Given the description of an element on the screen output the (x, y) to click on. 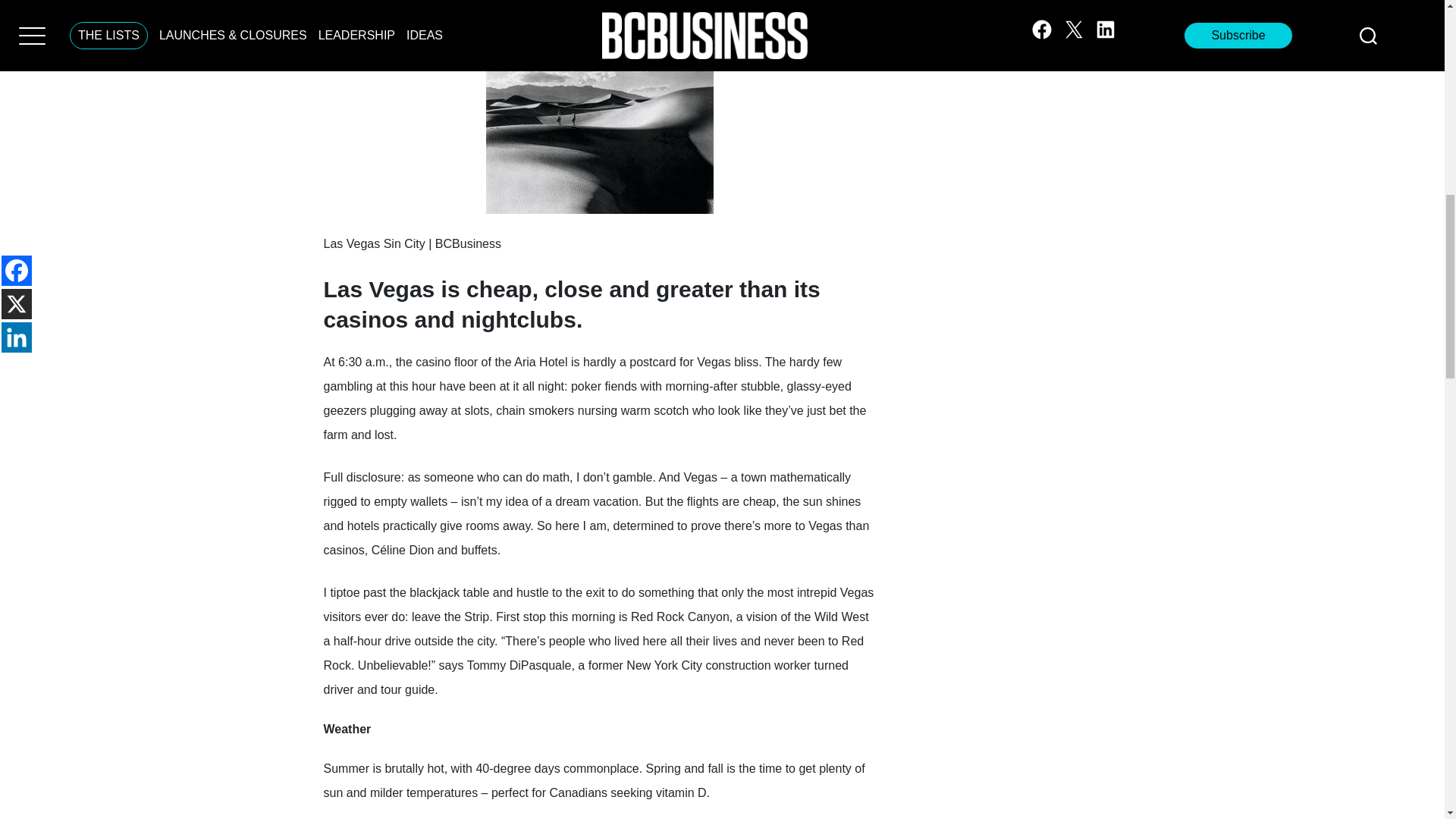
3rd party ad content (599, 13)
3rd party ad content (1084, 8)
3rd party ad content (1084, 124)
